Given the description of an element on the screen output the (x, y) to click on. 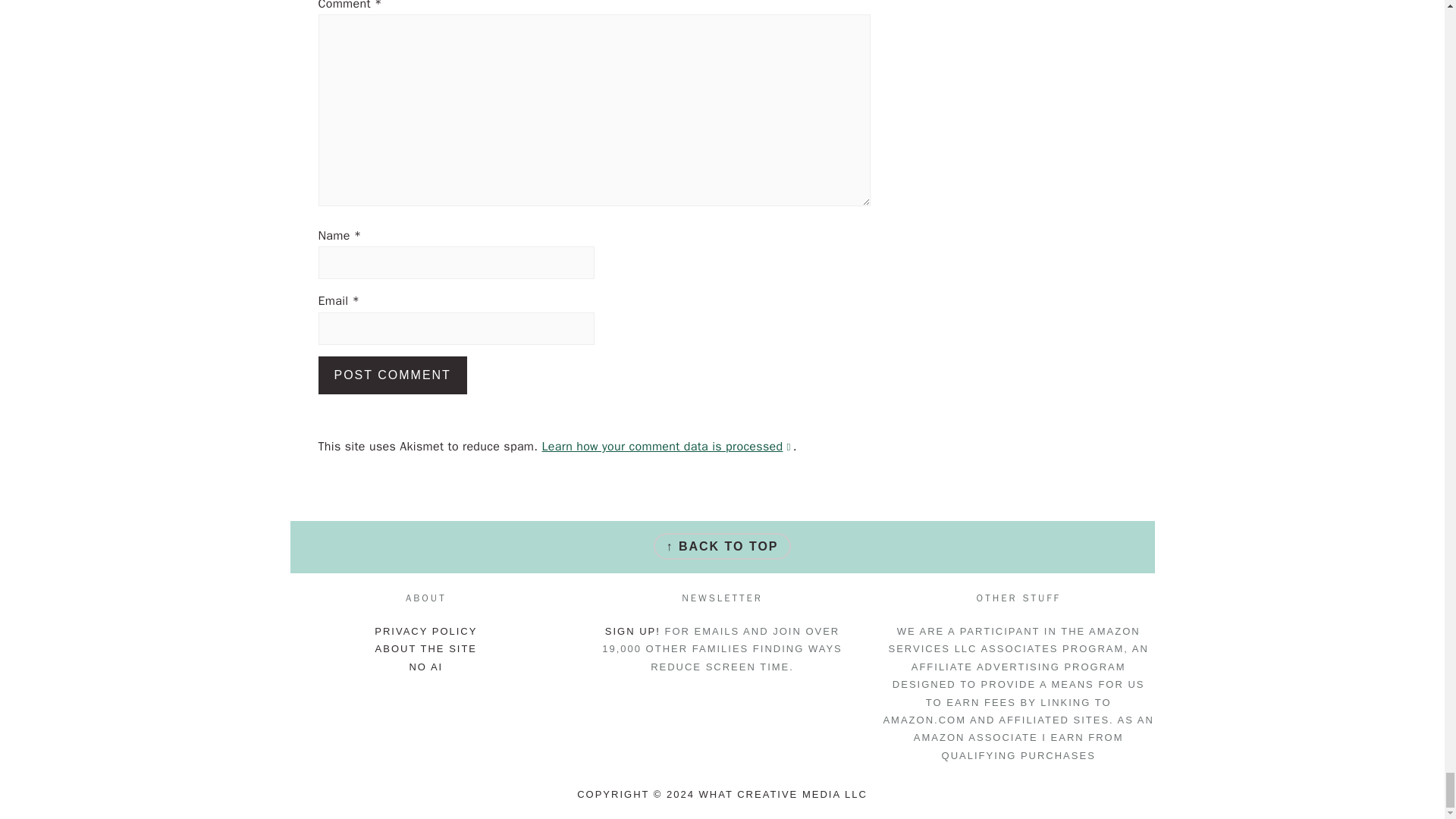
Post Comment (392, 374)
